Given the description of an element on the screen output the (x, y) to click on. 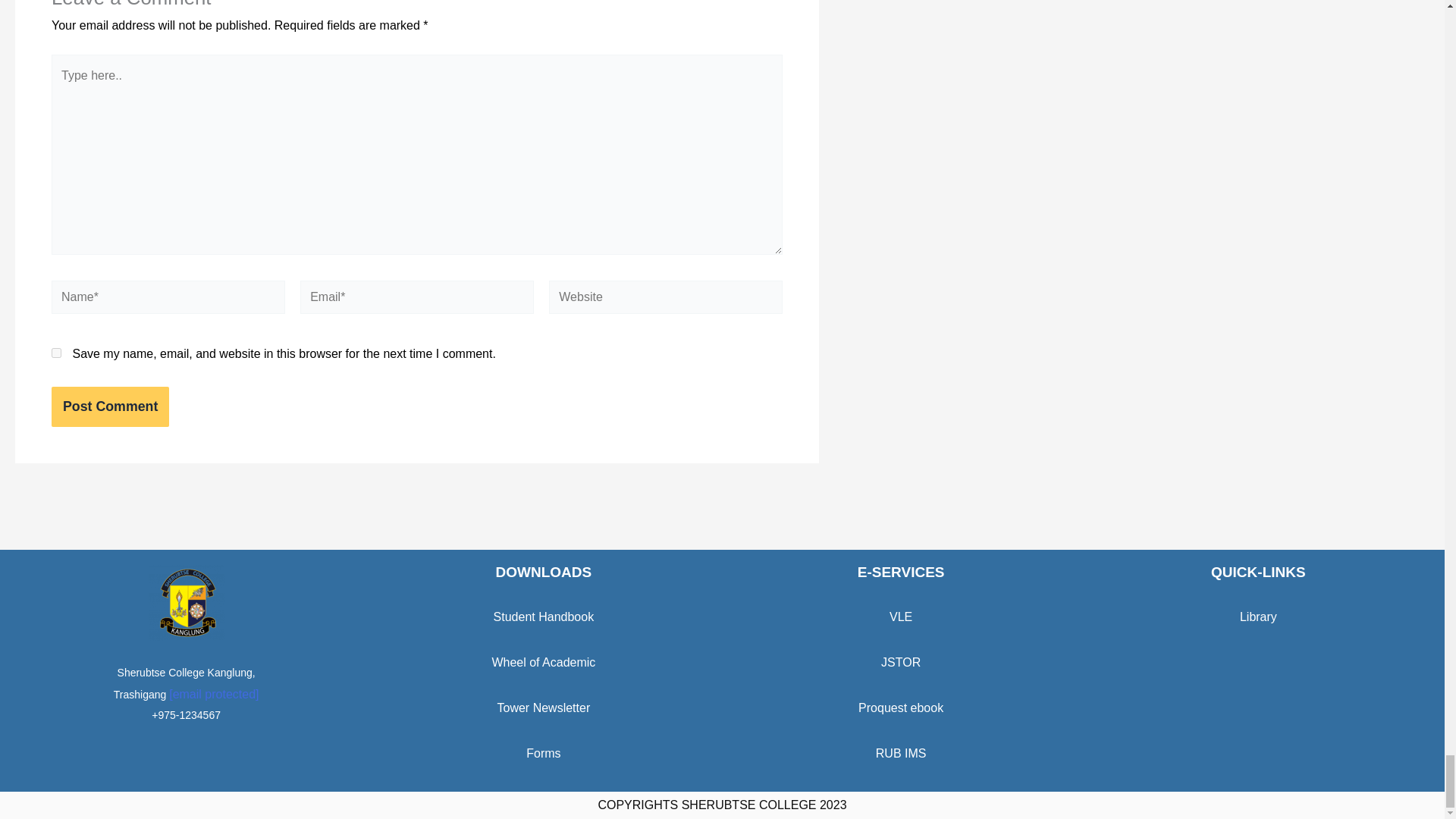
yes (55, 352)
Post Comment (109, 406)
